Given the description of an element on the screen output the (x, y) to click on. 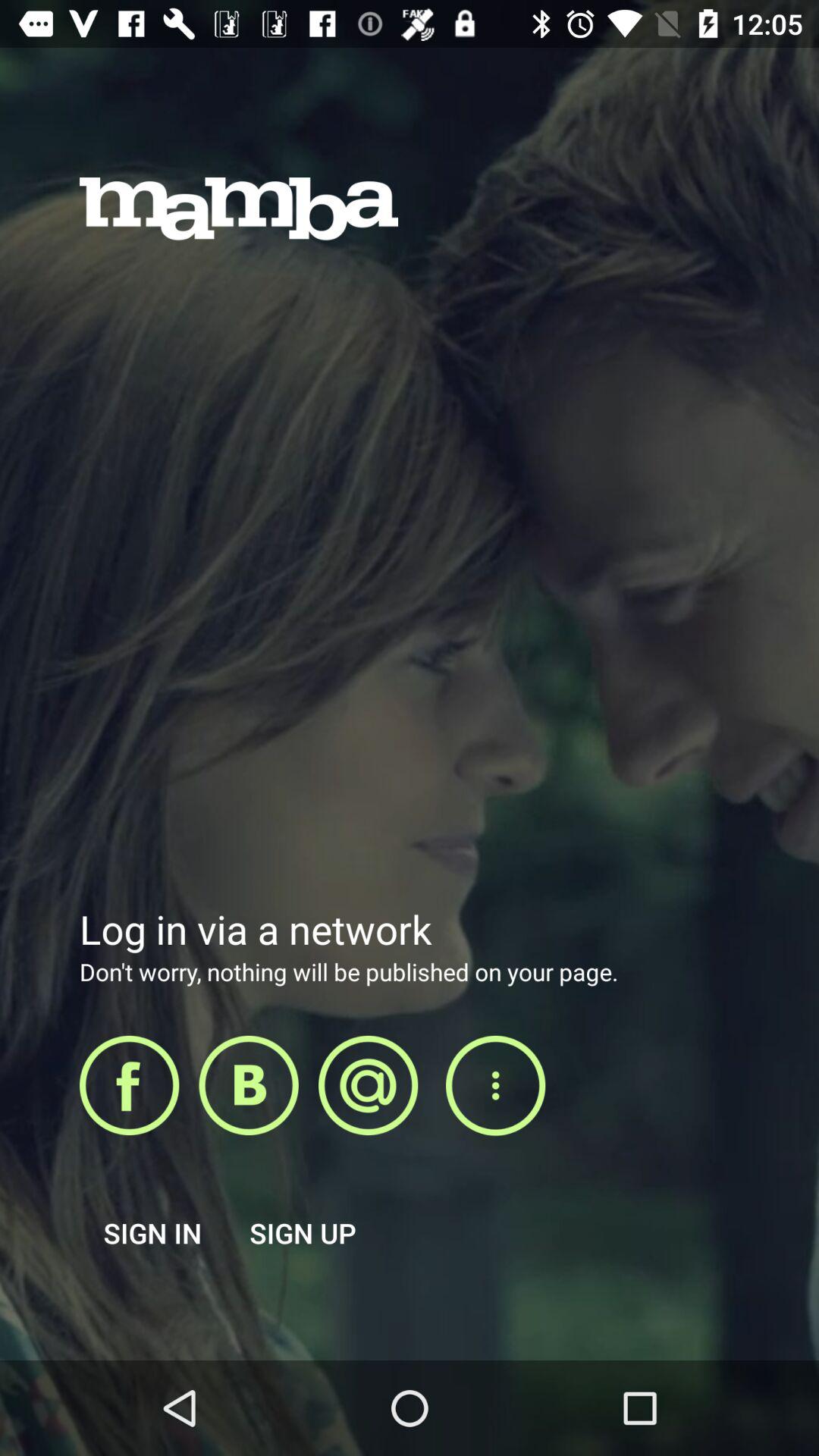
go to at option (368, 1085)
